Given the description of an element on the screen output the (x, y) to click on. 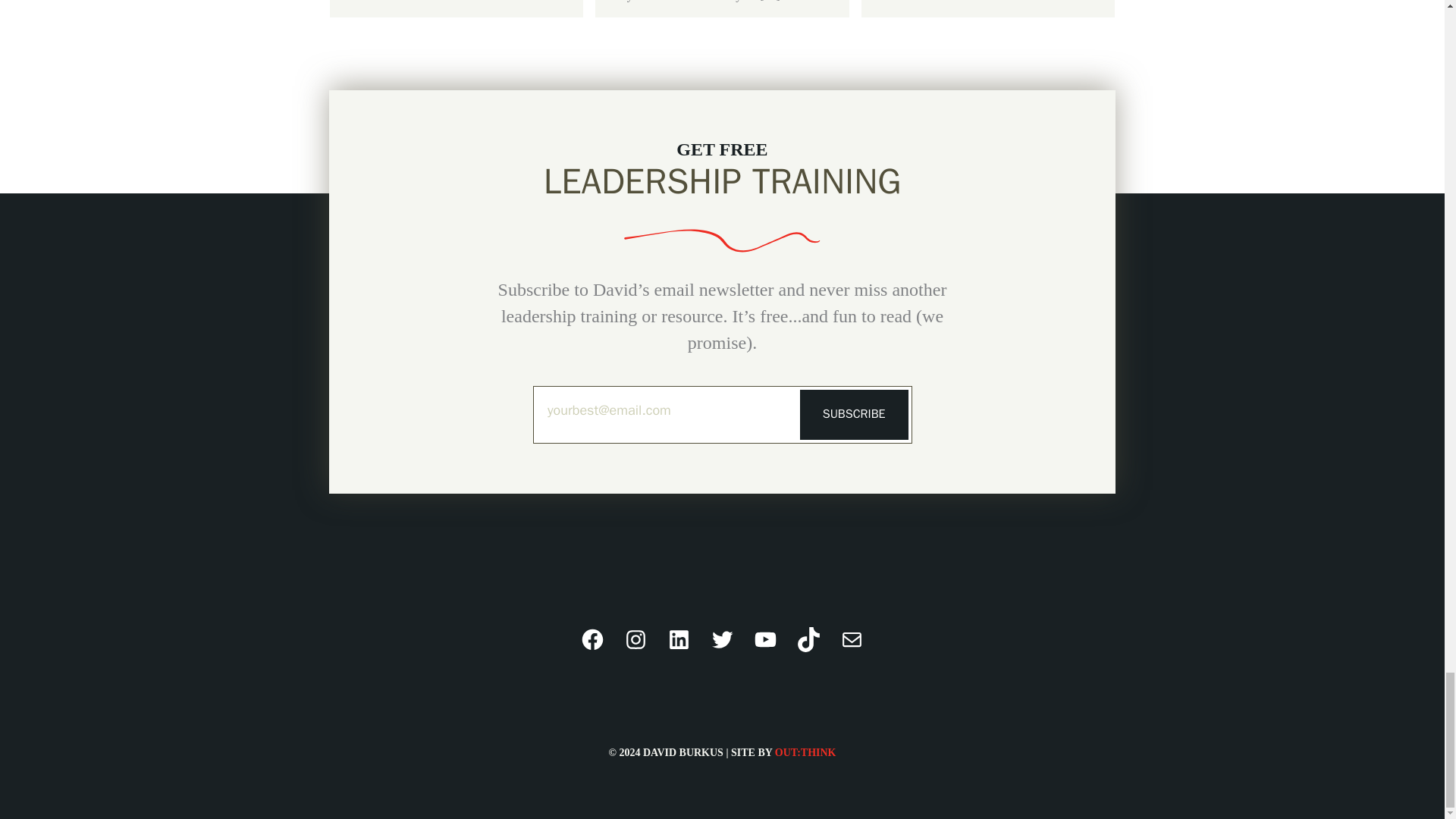
Instagram (635, 639)
TikTok (808, 639)
Facebook (592, 639)
OUT:THINK (804, 752)
YouTube (764, 639)
LinkedIn (678, 639)
Subscribe (853, 414)
Twitter (722, 639)
Mail (852, 639)
Subscribe (853, 414)
